Given the description of an element on the screen output the (x, y) to click on. 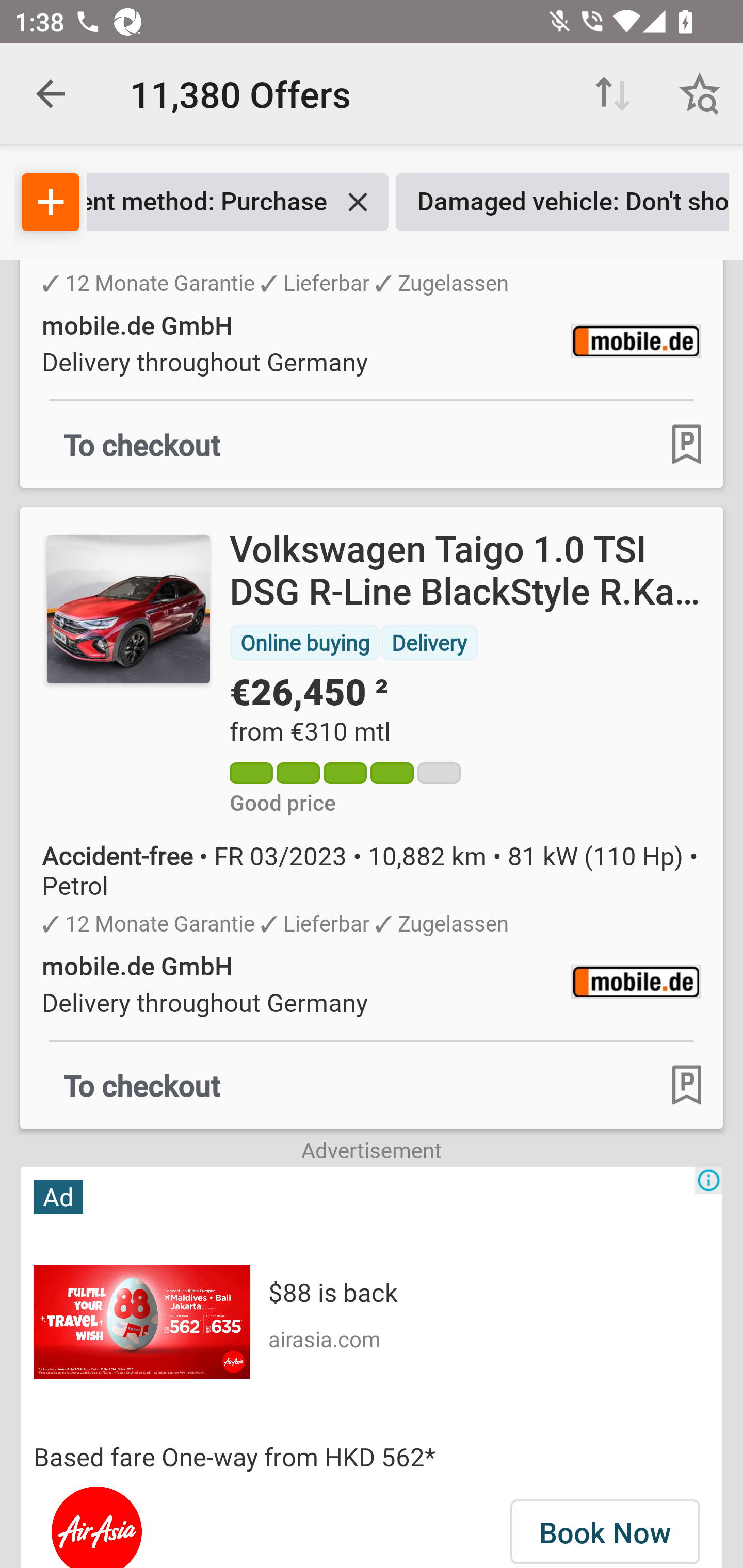
Navigate up (50, 93)
Sort options (612, 93)
Save search (699, 93)
Damaged vehicle: Don't show (562, 202)
Filter (50, 202)
To checkout (142, 444)
To checkout (142, 1084)
Ad Choices Icon (708, 1180)
$88 is back (332, 1291)
airasia.com (324, 1338)
Based fare One-way from HKD 562* (371, 1456)
Book Now (604, 1528)
